Given the description of an element on the screen output the (x, y) to click on. 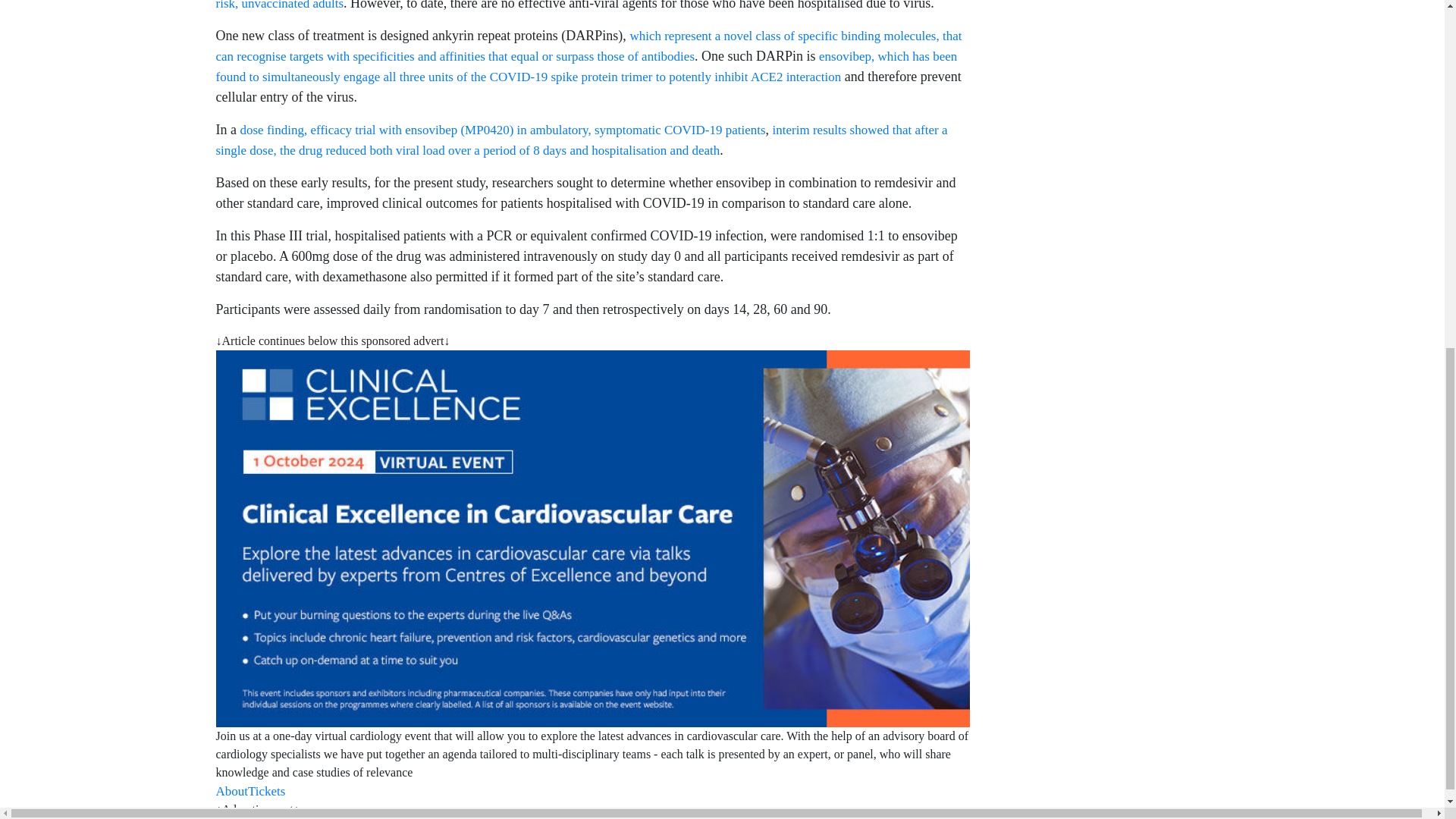
About (231, 790)
Tickets (266, 790)
